Given the description of an element on the screen output the (x, y) to click on. 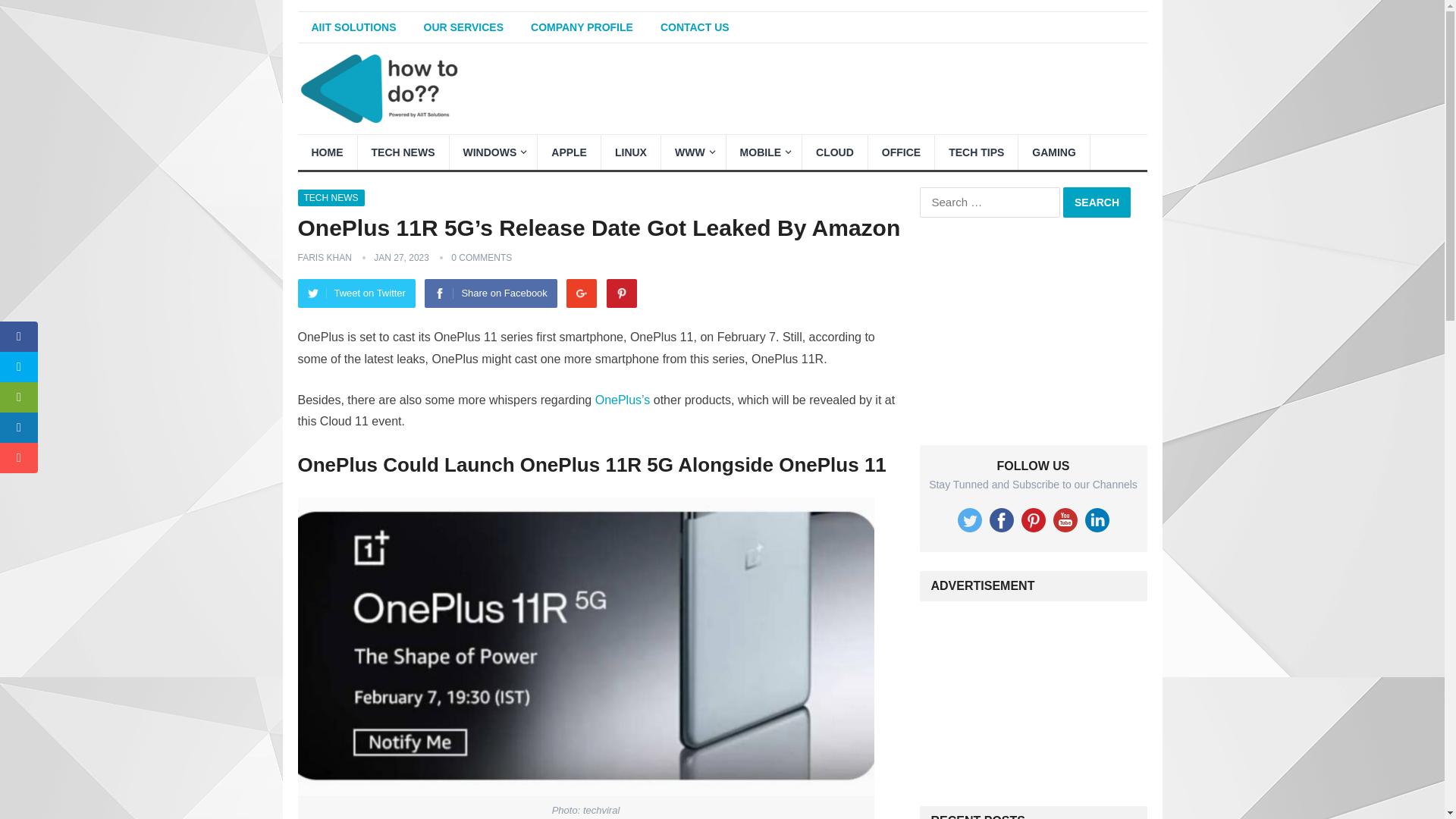
CONTACT US (694, 27)
WWW (693, 152)
OFFICE (900, 152)
LINUX (631, 152)
Advertisement (1032, 330)
TECH TIPS (975, 152)
View all posts in Tech News (330, 197)
Search (1096, 202)
APPLE (568, 152)
WINDOWS (492, 152)
